Given the description of an element on the screen output the (x, y) to click on. 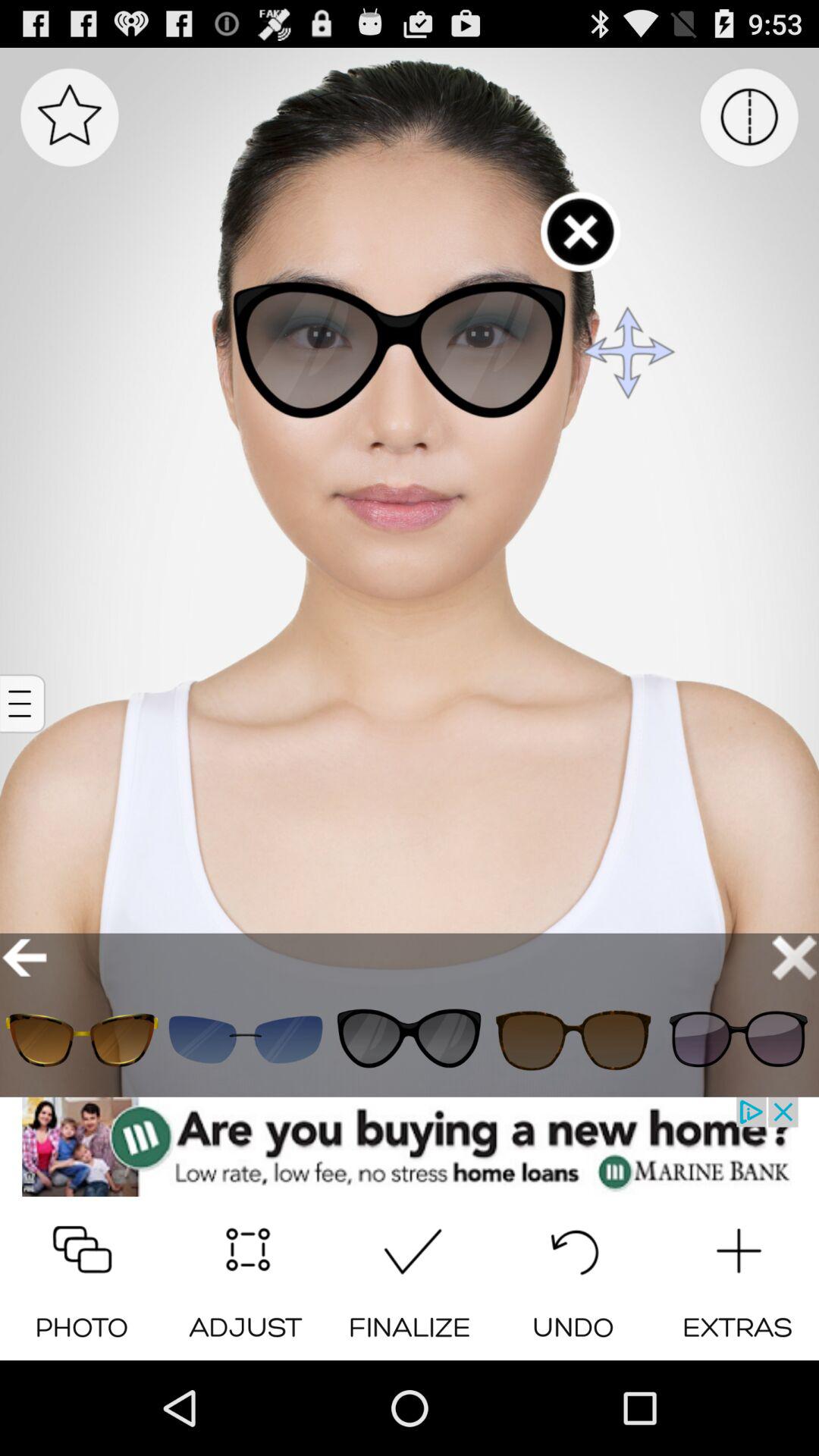
swap glasses (409, 1039)
